Given the description of an element on the screen output the (x, y) to click on. 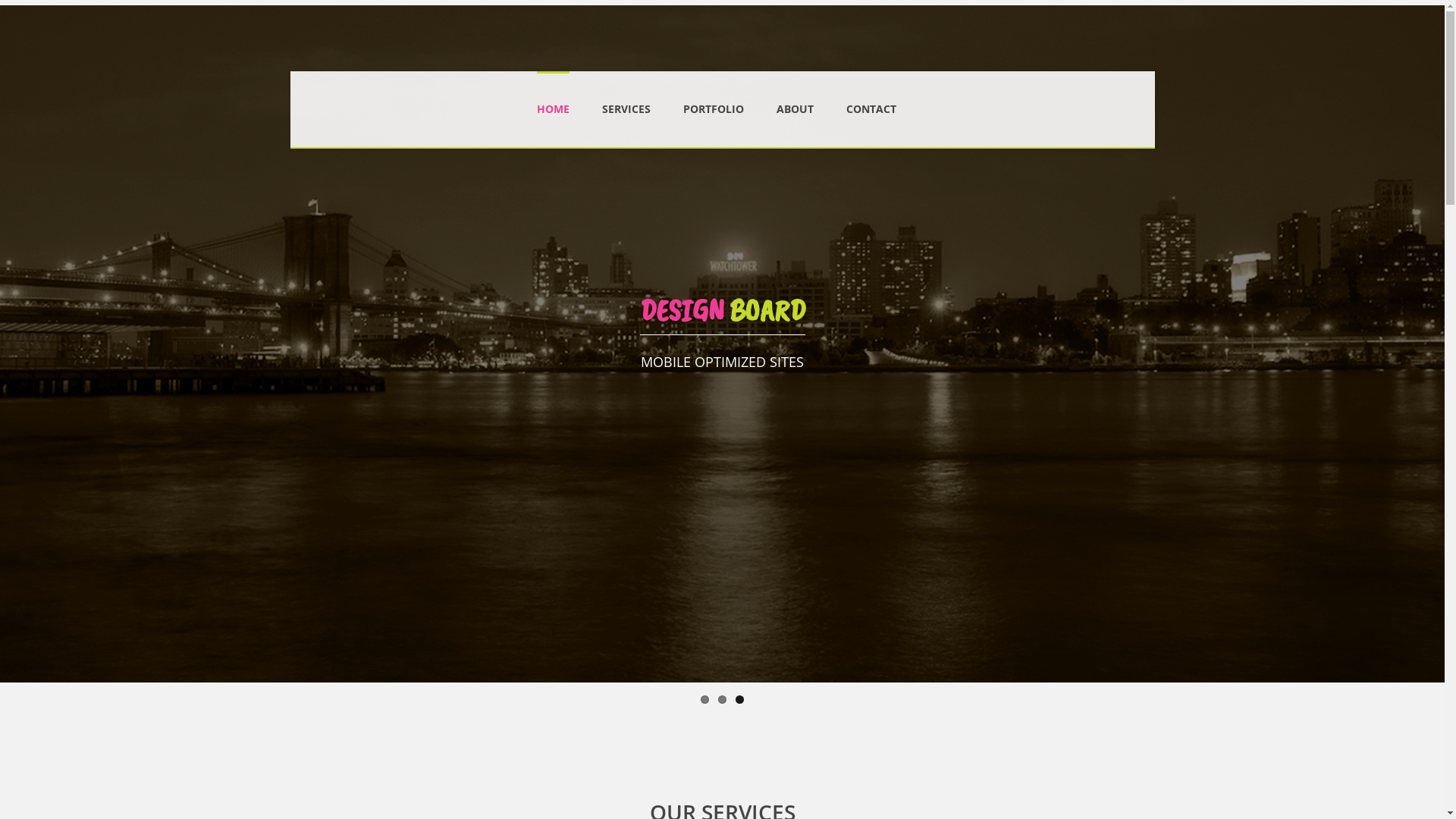
HOME Element type: text (552, 93)
2 Element type: text (722, 699)
PORTFOLIO Element type: text (713, 94)
SERVICES Element type: text (626, 94)
3 Element type: text (739, 699)
CONTACT Element type: text (871, 94)
ABOUT Element type: text (794, 94)
1 Element type: text (704, 699)
